Given the description of an element on the screen output the (x, y) to click on. 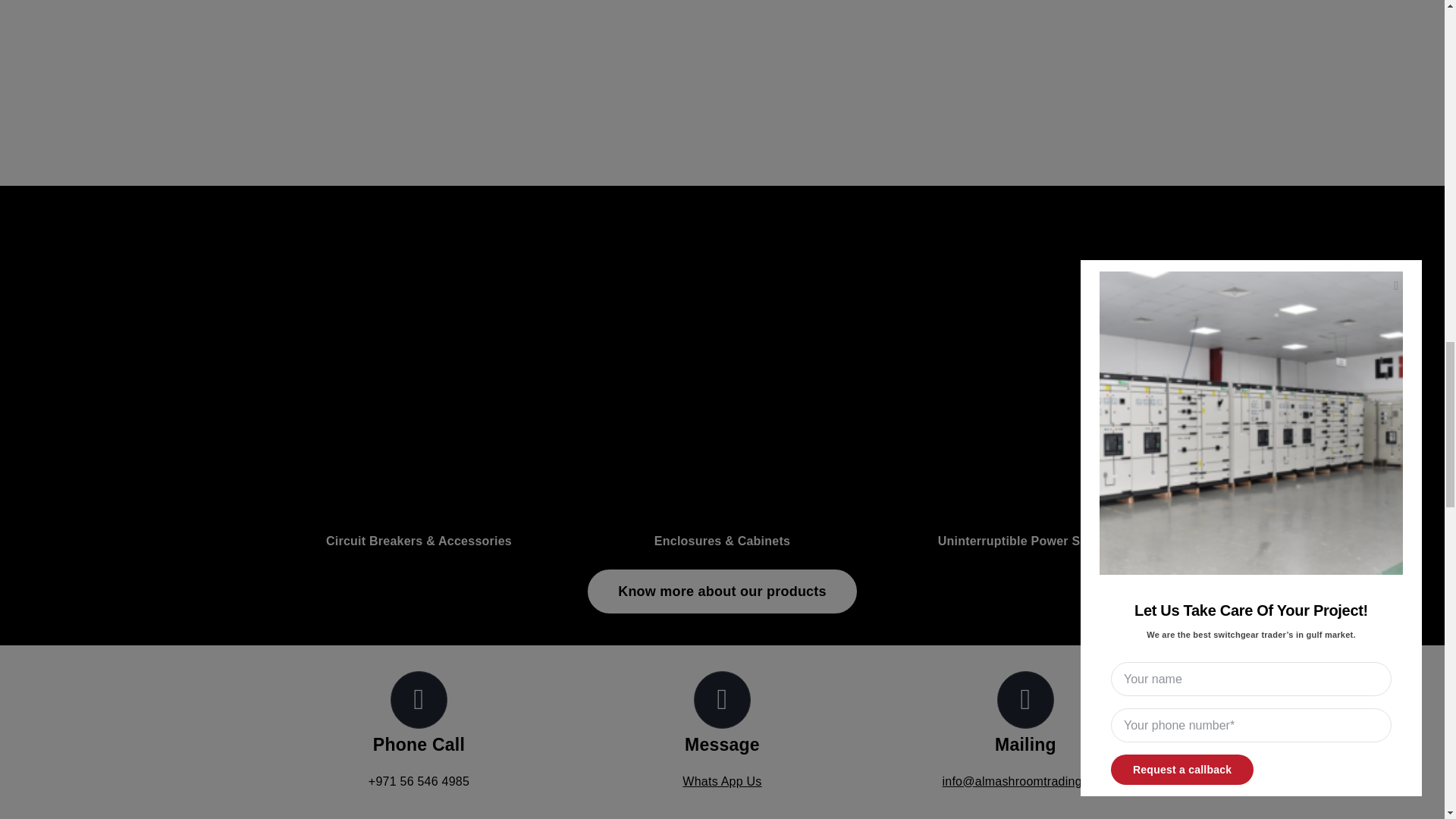
Know more about our products (722, 591)
Uninterruptible Power Supply (1012, 453)
Whats App Us (721, 780)
